Given the description of an element on the screen output the (x, y) to click on. 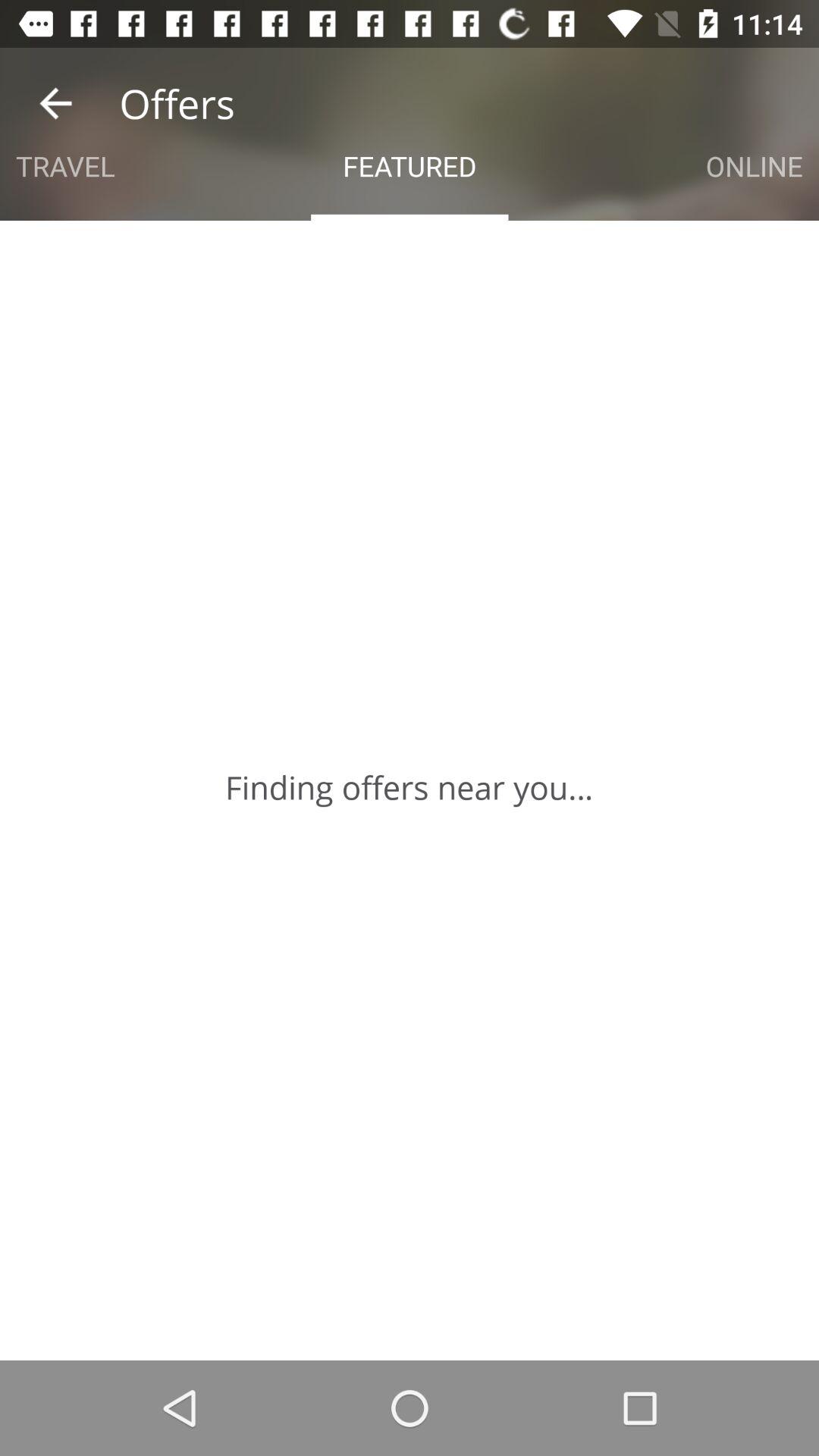
press the item next to the featured icon (754, 165)
